Given the description of an element on the screen output the (x, y) to click on. 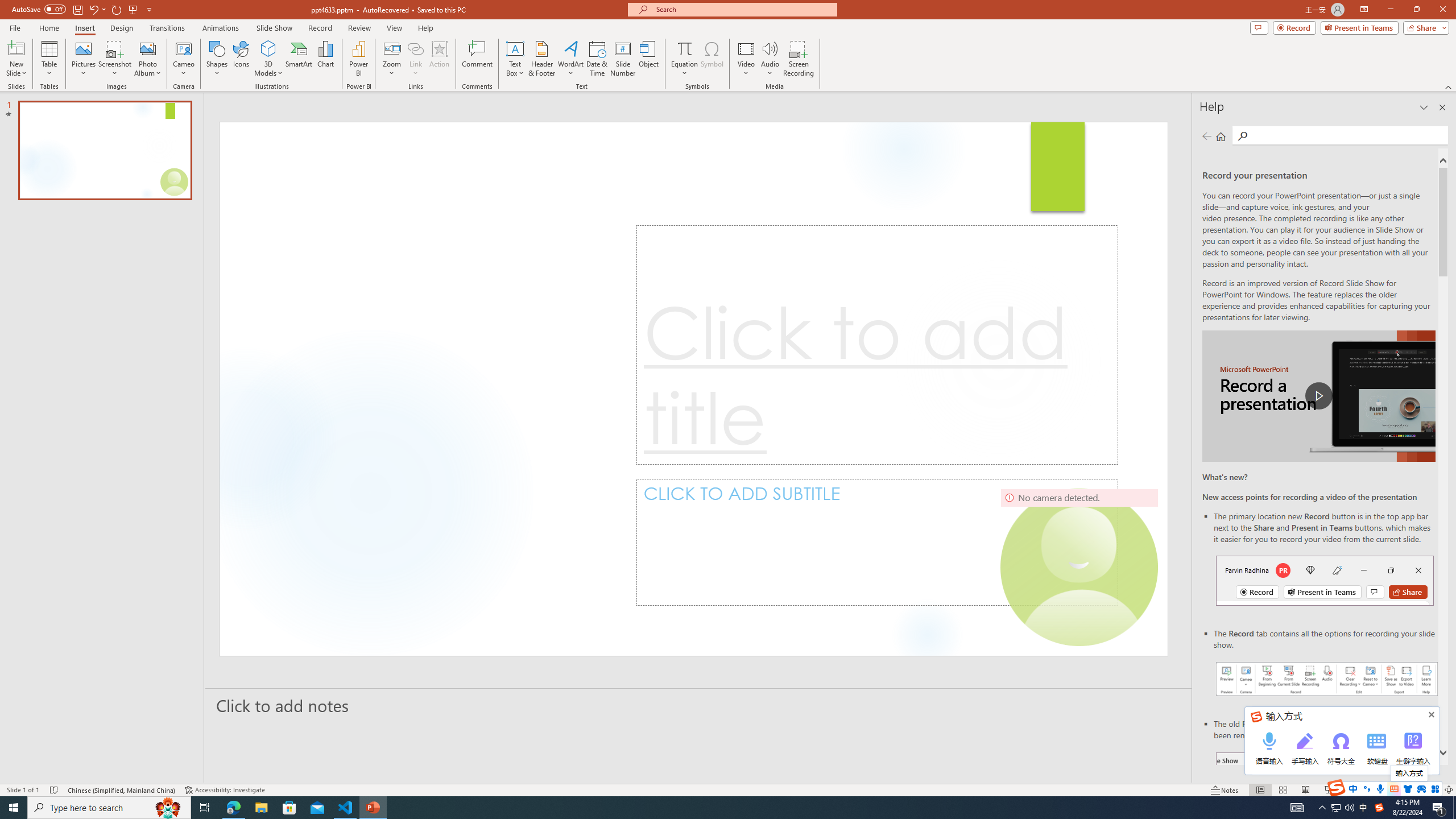
SmartArt... (298, 58)
Action (439, 58)
